Given the description of an element on the screen output the (x, y) to click on. 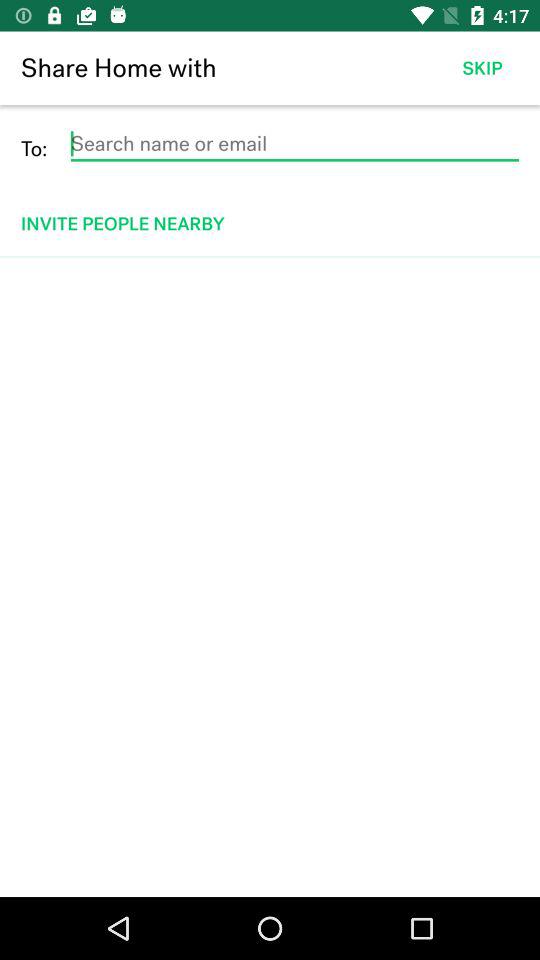
choose icon to the right of the share home with item (482, 68)
